Given the description of an element on the screen output the (x, y) to click on. 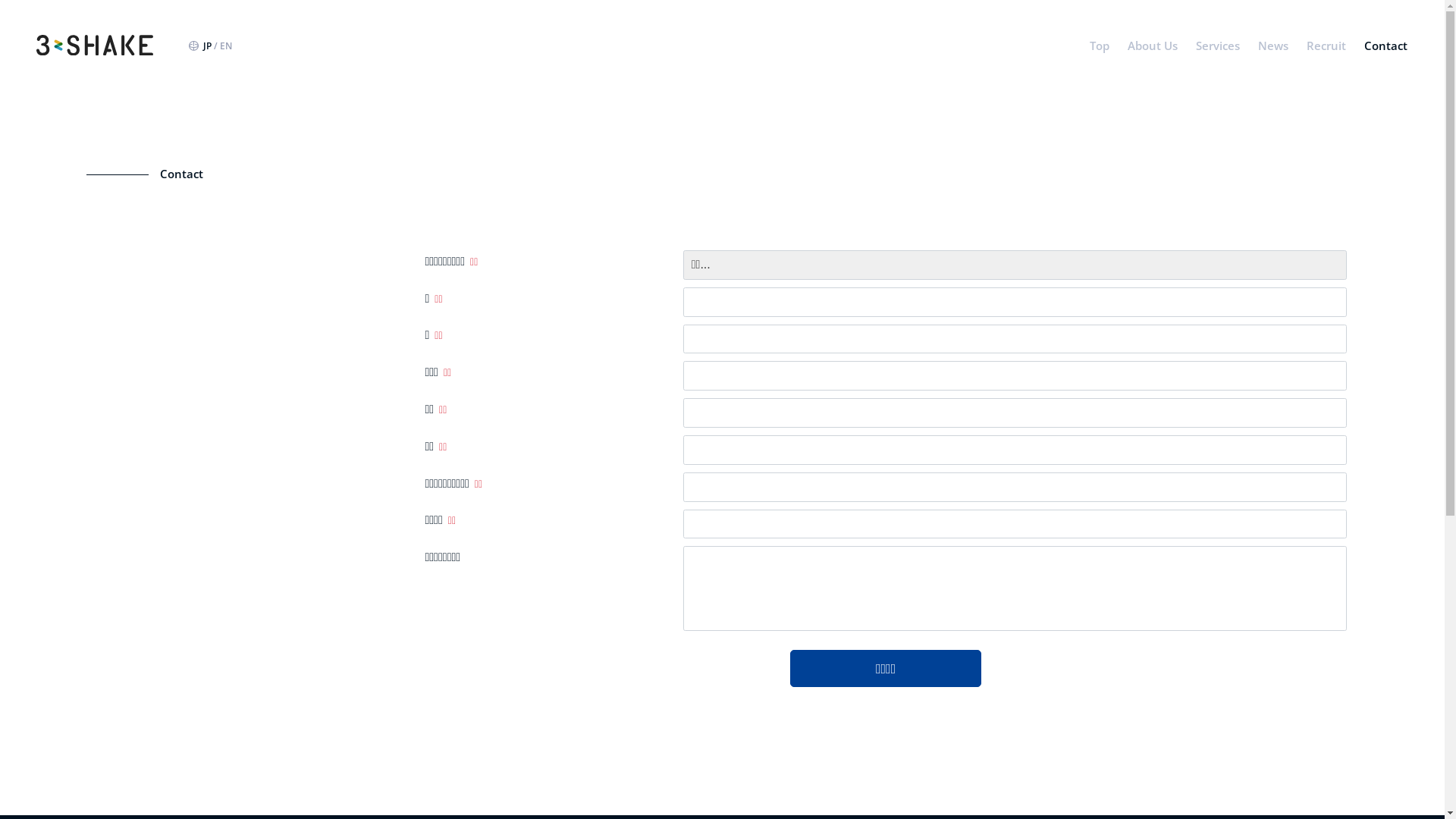
Services Element type: text (1217, 45)
News Element type: text (1273, 45)
About Us Element type: text (1152, 45)
EN Element type: text (225, 45)
Top Element type: text (1099, 45)
Recruit Element type: text (1326, 45)
JP Element type: text (207, 45)
Contact Element type: text (1385, 45)
